Given the description of an element on the screen output the (x, y) to click on. 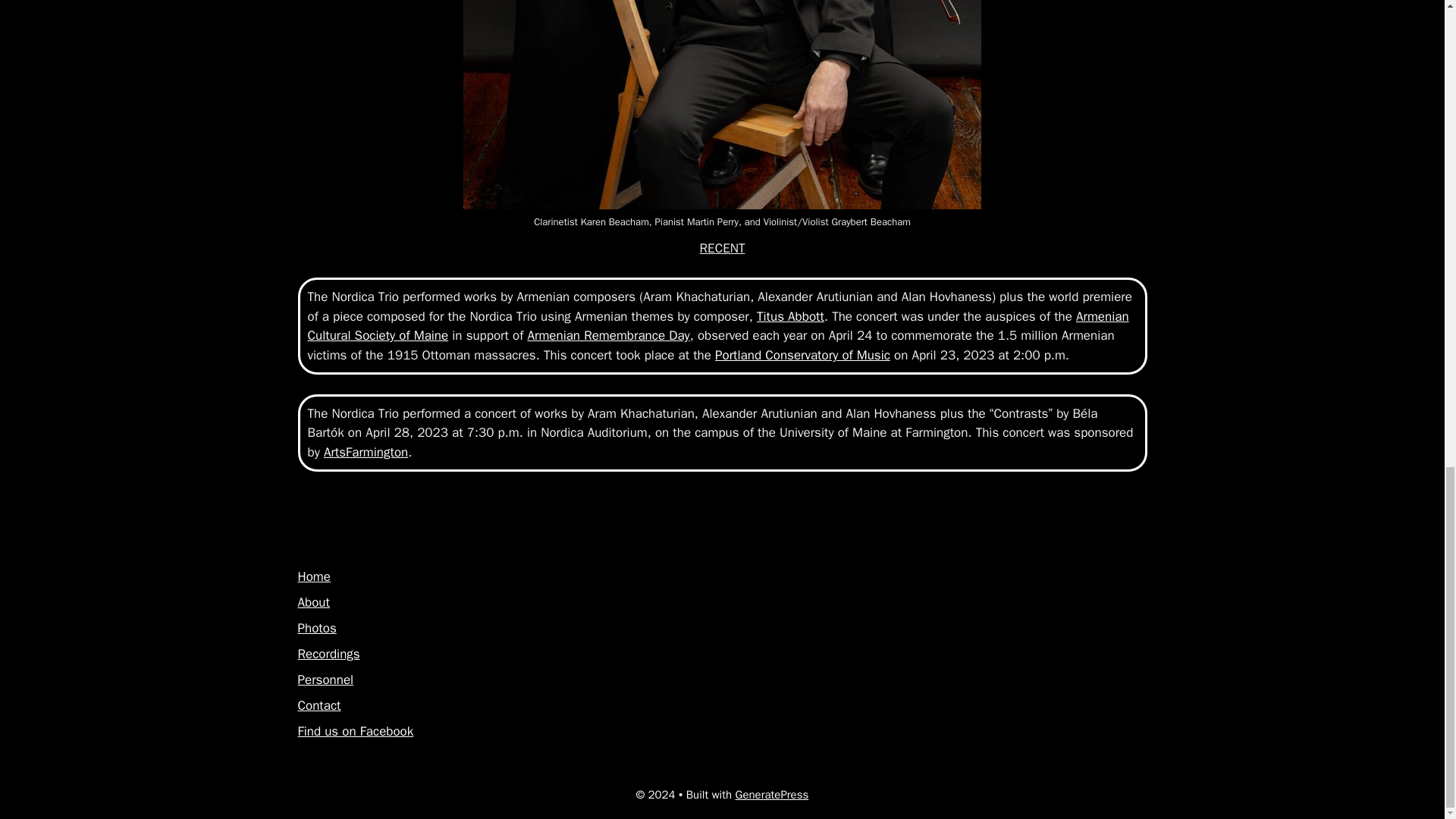
GeneratePress (772, 794)
Armenian Remembrance Day (607, 335)
ArtsFarmington (365, 452)
Portland Conservatory of Music (801, 355)
Home (313, 576)
Find us on Facebook (355, 731)
Recordings (328, 653)
Titus Abbott (790, 316)
Scroll back to top (1406, 442)
Contact (318, 705)
Photos (316, 627)
Personnel (325, 679)
About (313, 602)
Armenian Cultural Society of Maine (718, 325)
